Given the description of an element on the screen output the (x, y) to click on. 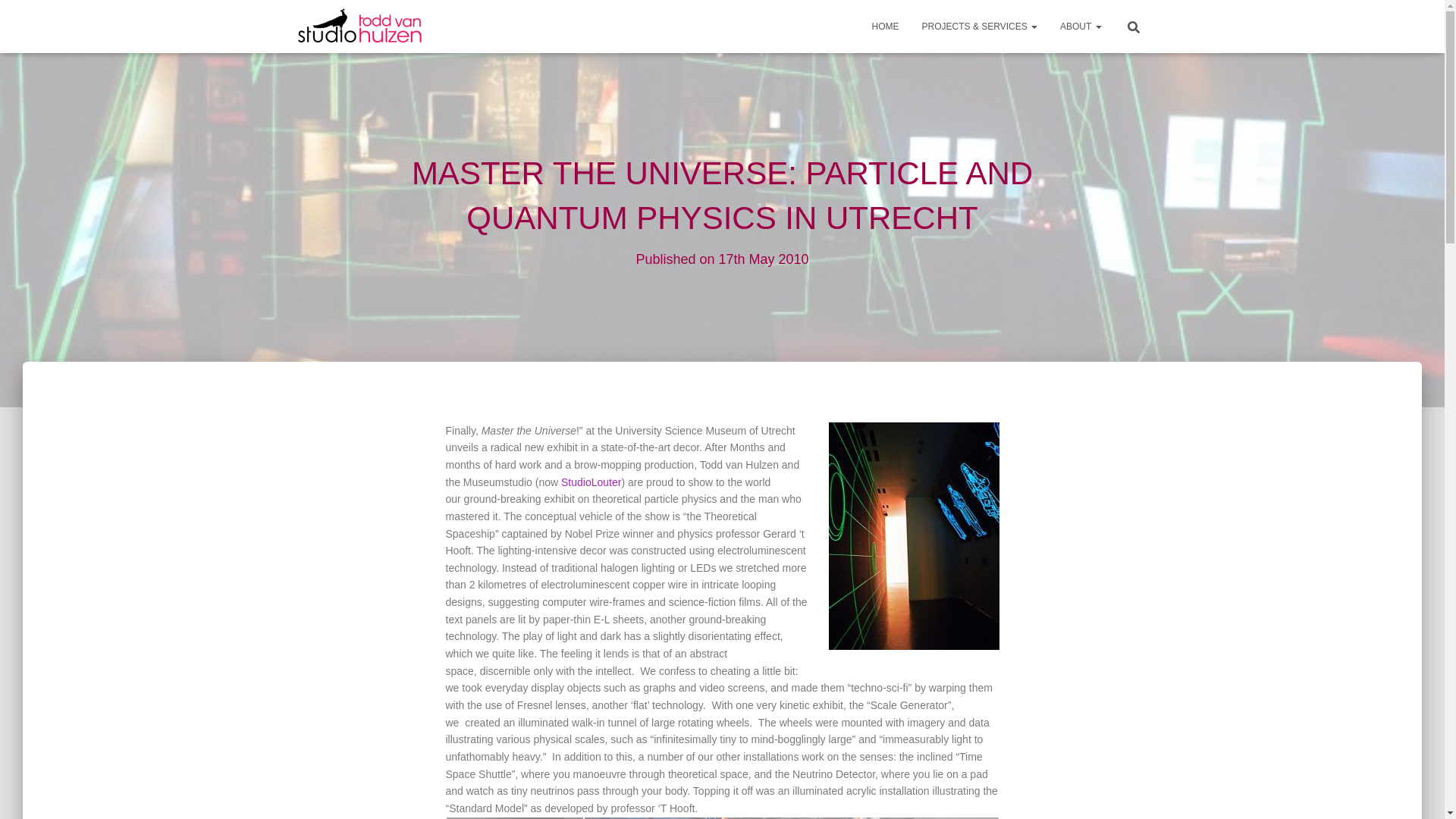
Search (16, 16)
StudioLouter (590, 481)
HOME (885, 26)
Studio Todd van Hulzen (359, 26)
About (1080, 26)
ABOUT (1080, 26)
Home (885, 26)
